Given the description of an element on the screen output the (x, y) to click on. 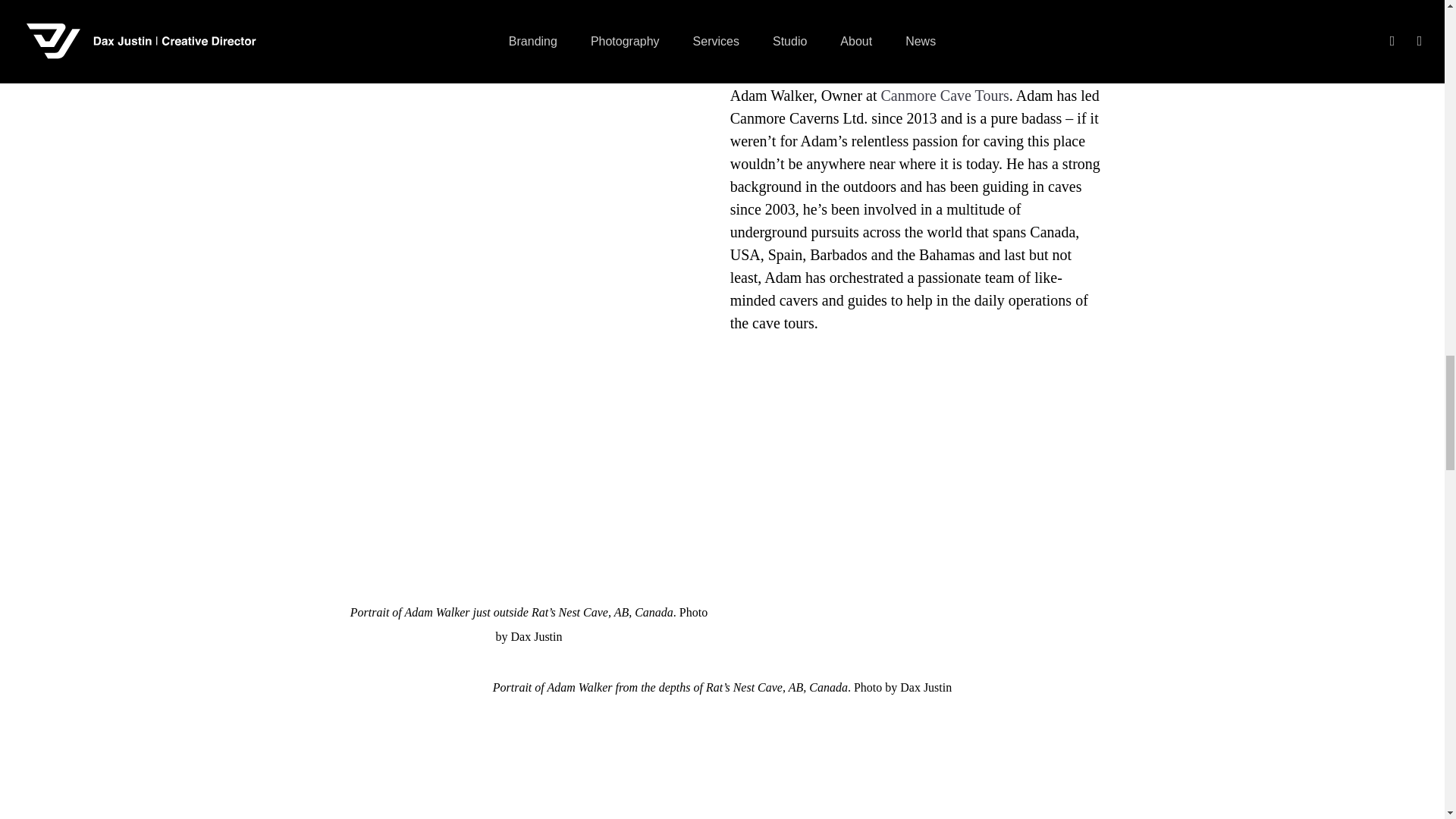
Canmore Cave Tours (944, 95)
